Given the description of an element on the screen output the (x, y) to click on. 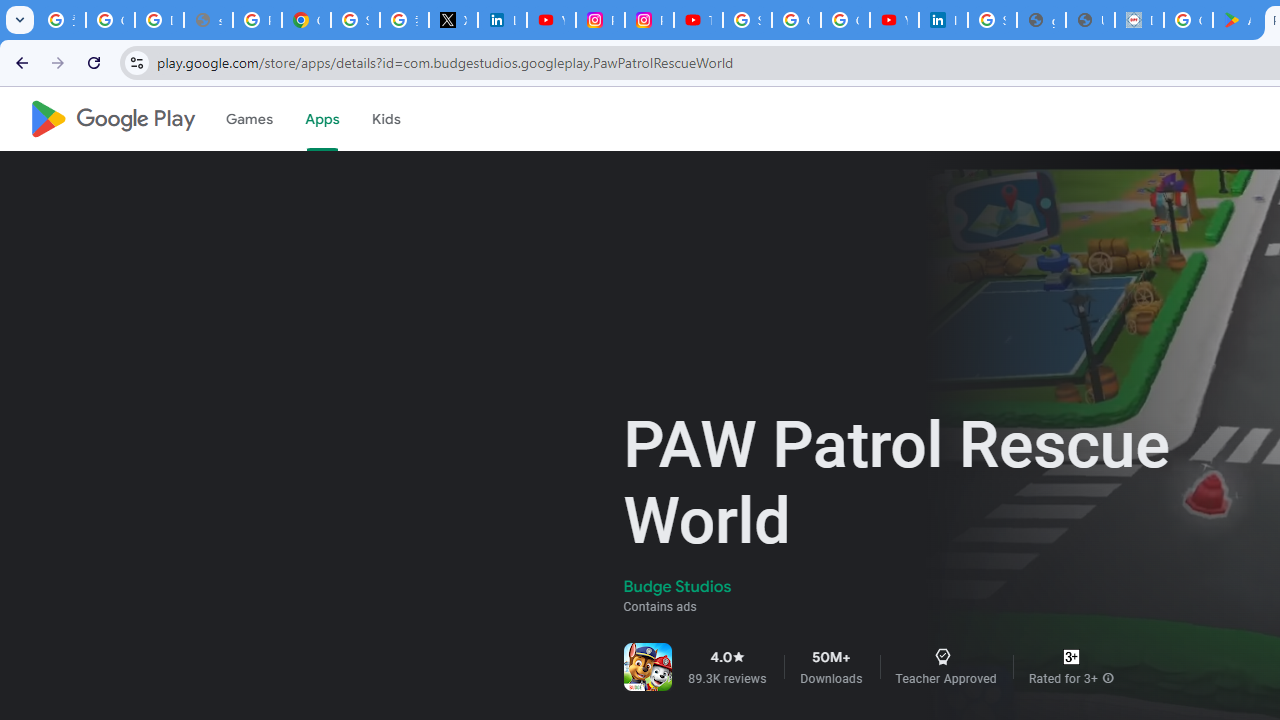
support.google.com - Network error (208, 20)
Sign in - Google Accounts (355, 20)
Games (248, 119)
Sign in - Google Accounts (992, 20)
More info about this content rating (1108, 678)
User Details (1090, 20)
Sign in - Google Accounts (747, 20)
Apps (321, 119)
Identity verification via Persona | LinkedIn Help (943, 20)
